Given the description of an element on the screen output the (x, y) to click on. 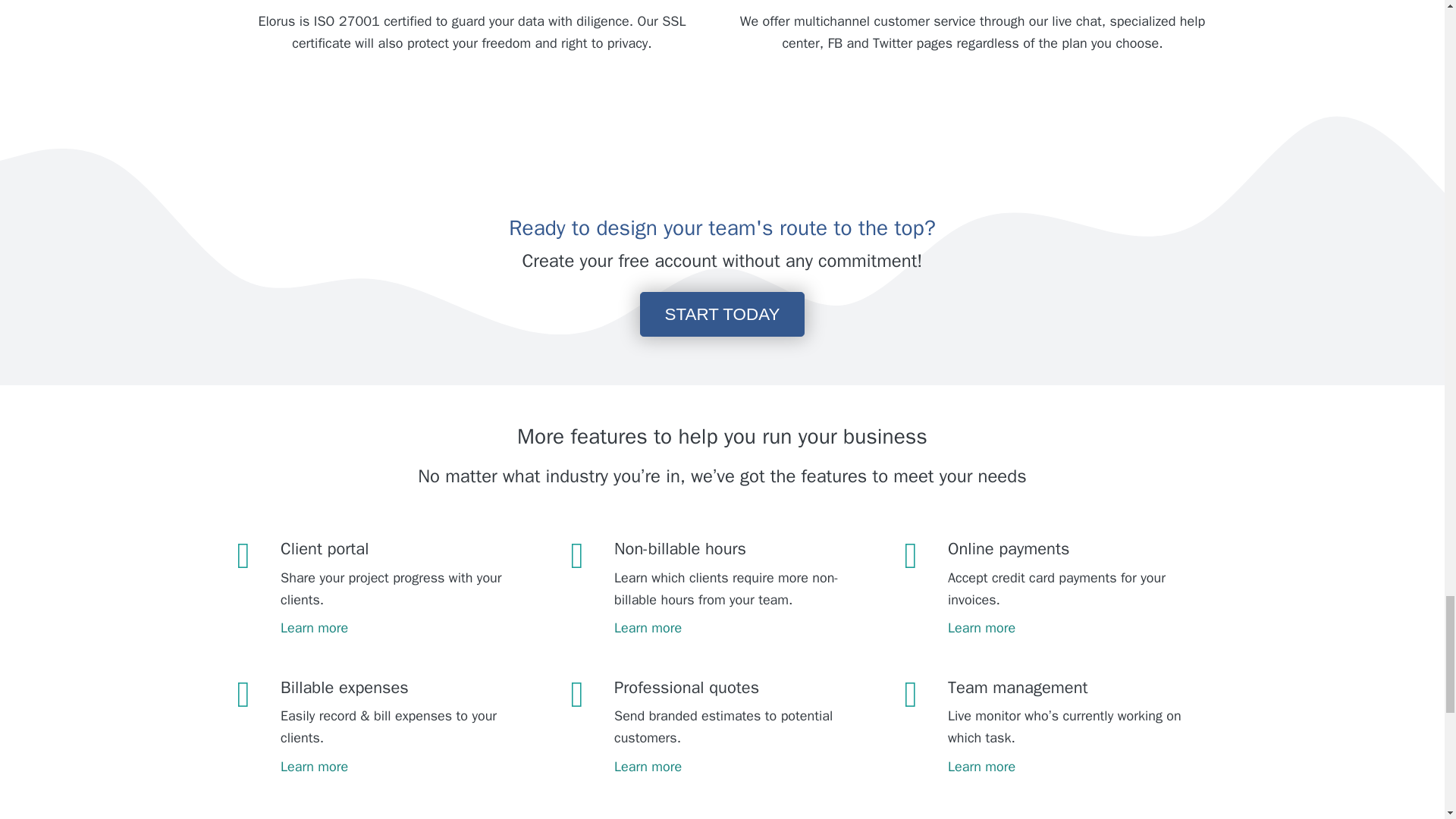
Learn more (739, 764)
Learn more (1072, 624)
START TODAY (722, 313)
Learn more (406, 764)
Learn more (739, 624)
Learn more (406, 624)
Learn more (1072, 764)
